Given the description of an element on the screen output the (x, y) to click on. 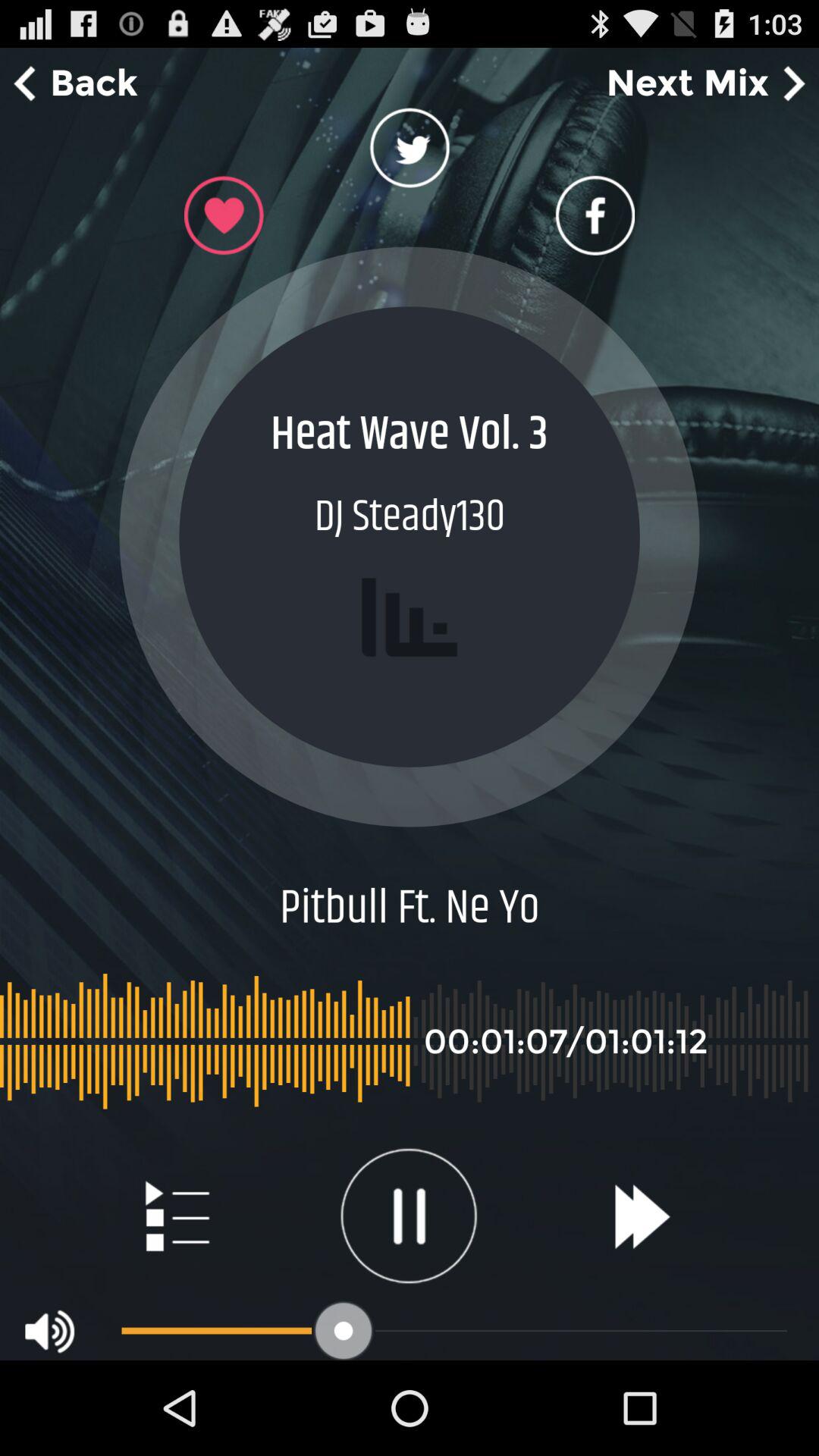
go to twitter profile (409, 152)
